Given the description of an element on the screen output the (x, y) to click on. 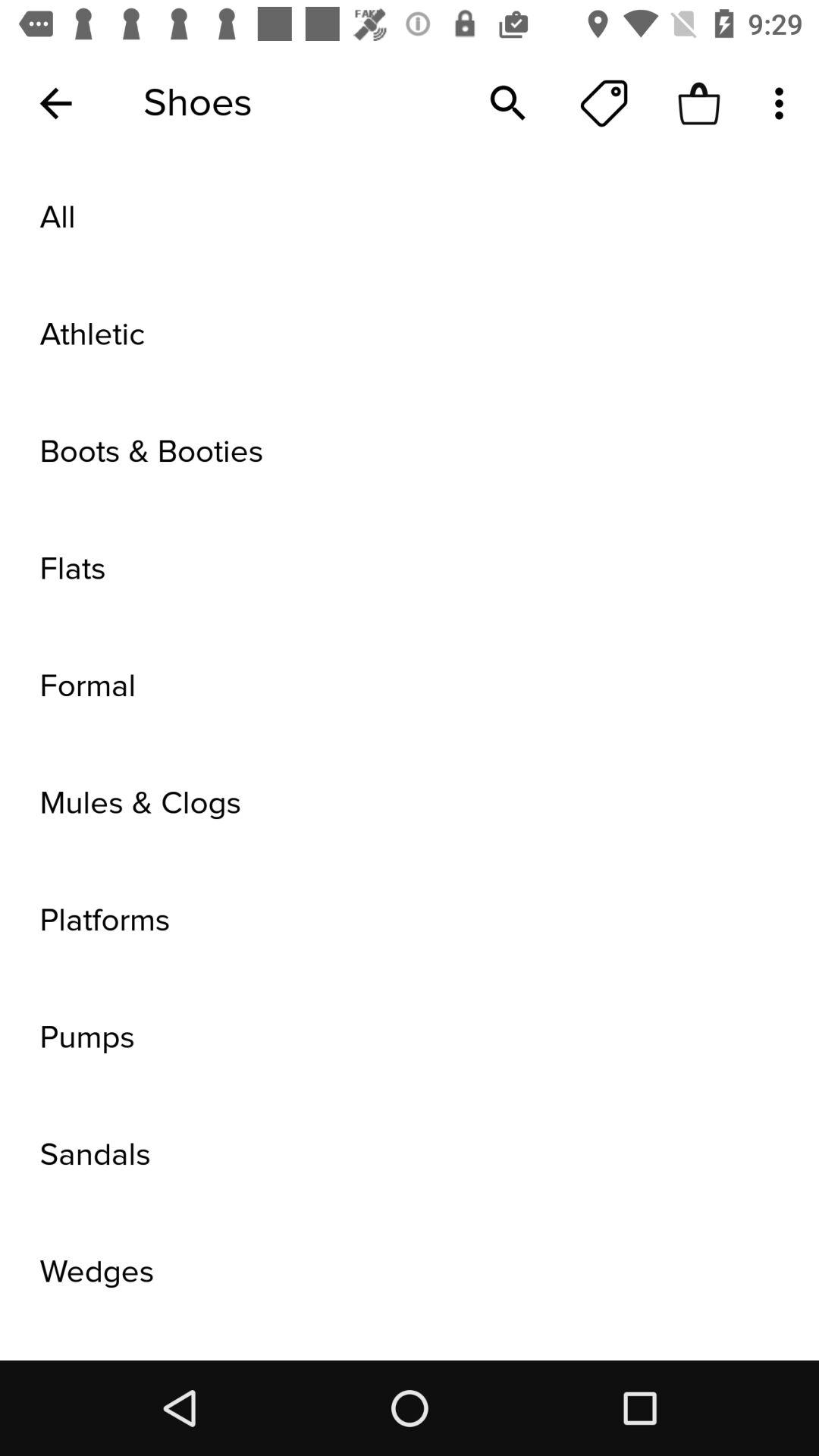
flip to all (409, 217)
